Given the description of an element on the screen output the (x, y) to click on. 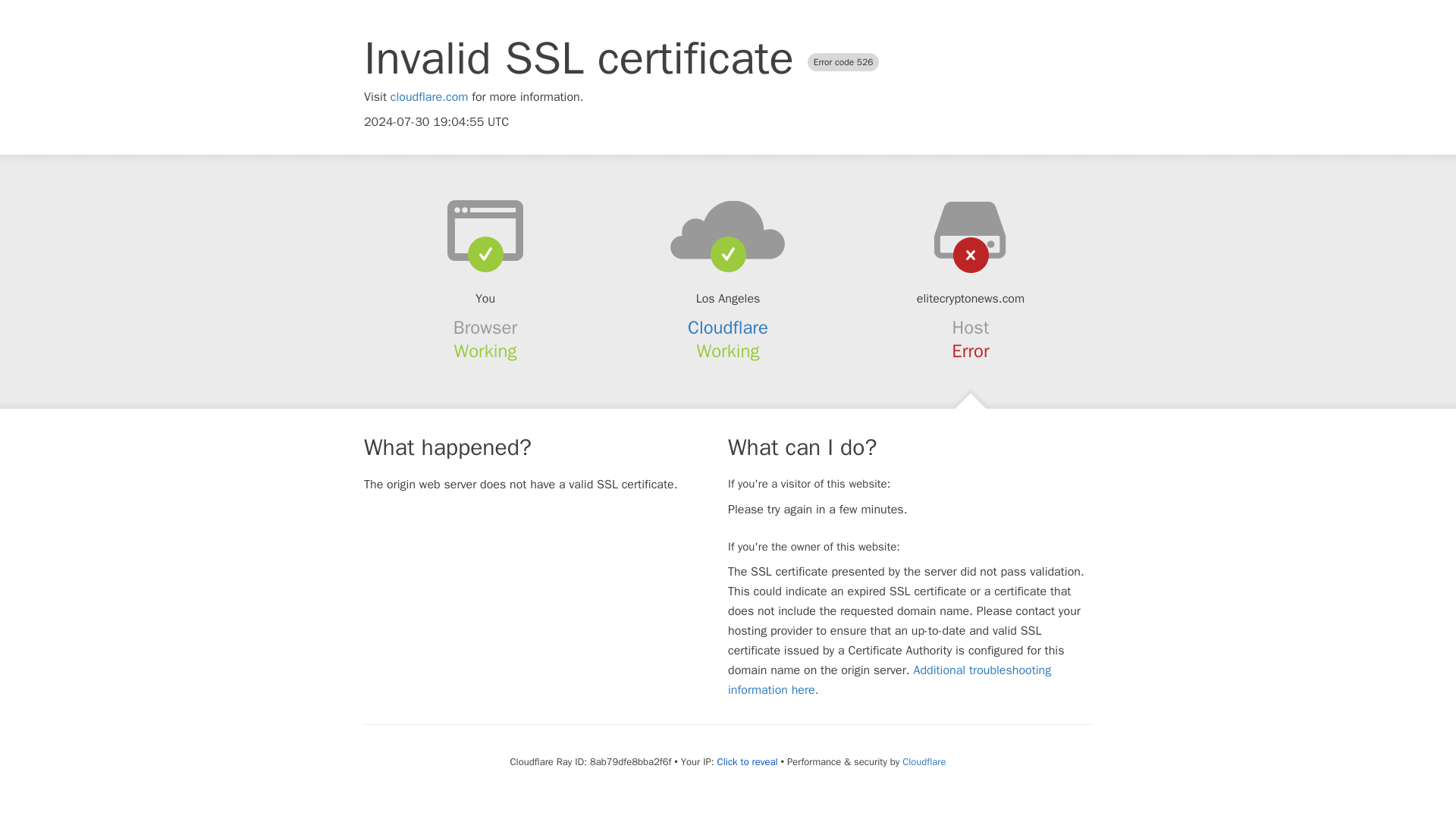
Click to reveal (747, 762)
Cloudflare (923, 761)
cloudflare.com (429, 96)
Additional troubleshooting information here. (889, 679)
Cloudflare (727, 327)
